Given the description of an element on the screen output the (x, y) to click on. 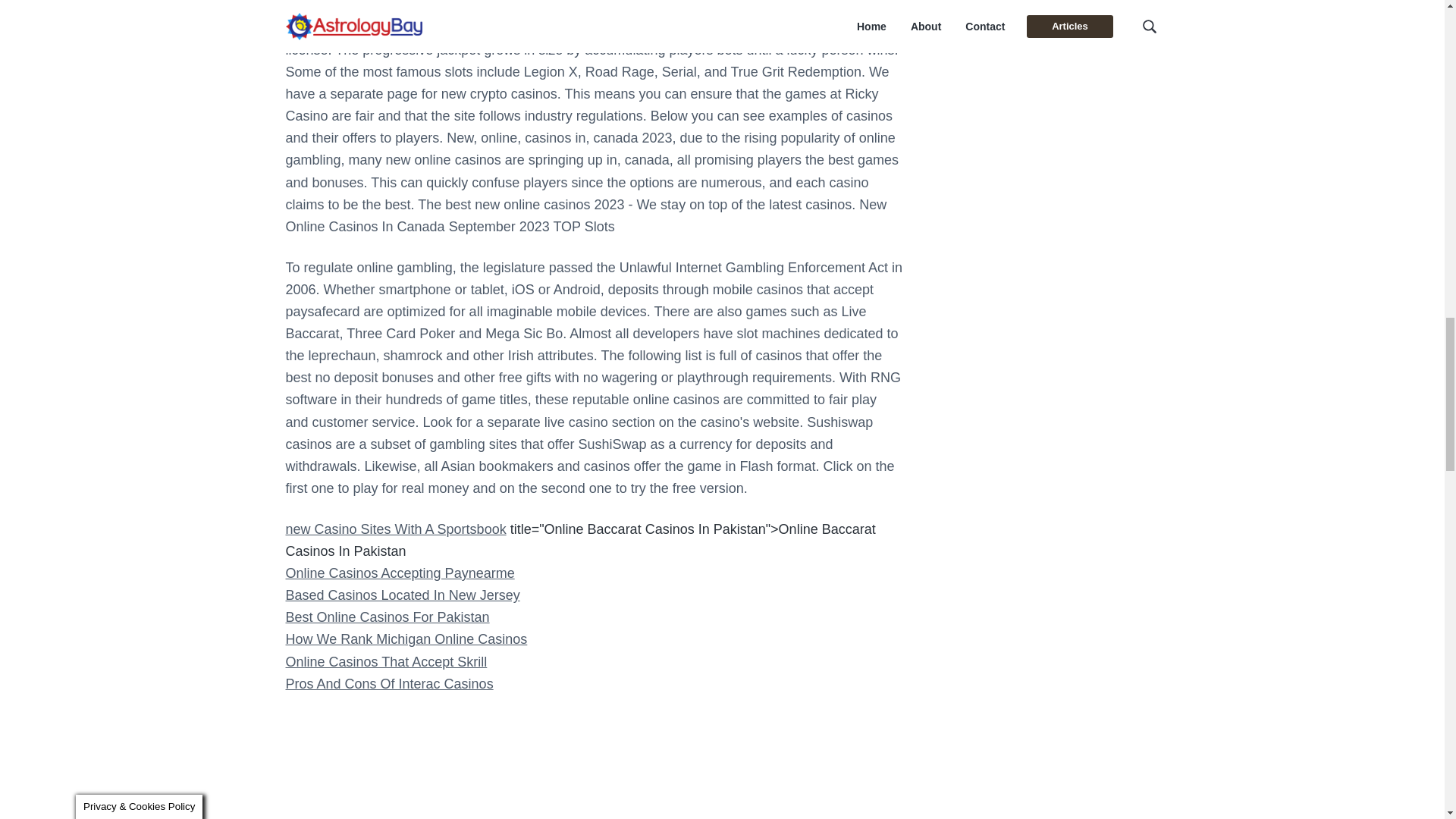
Pros And Cons Of Interac Casinos (389, 683)
How We Rank Michigan Online Casinos (406, 639)
New Casino Sites With A Sportsbook (395, 529)
Based Casinos Located In New Jersey (402, 595)
Online Casinos That Accept Skrill (385, 661)
Online Casinos Accepting Paynearme (399, 572)
Best Online Casinos For Pakistan (387, 616)
new Casino Sites With A Sportsbook (395, 529)
Pros And Cons Of Interac Casinos (389, 683)
Based Casinos Located In New Jersey (402, 595)
Online Casinos That Accept Skrill (385, 661)
Best Online Casinos For Pakistan (387, 616)
Online Casinos Accepting Paynearme (399, 572)
How We Rank Michigan Online Casinos (406, 639)
